Given the description of an element on the screen output the (x, y) to click on. 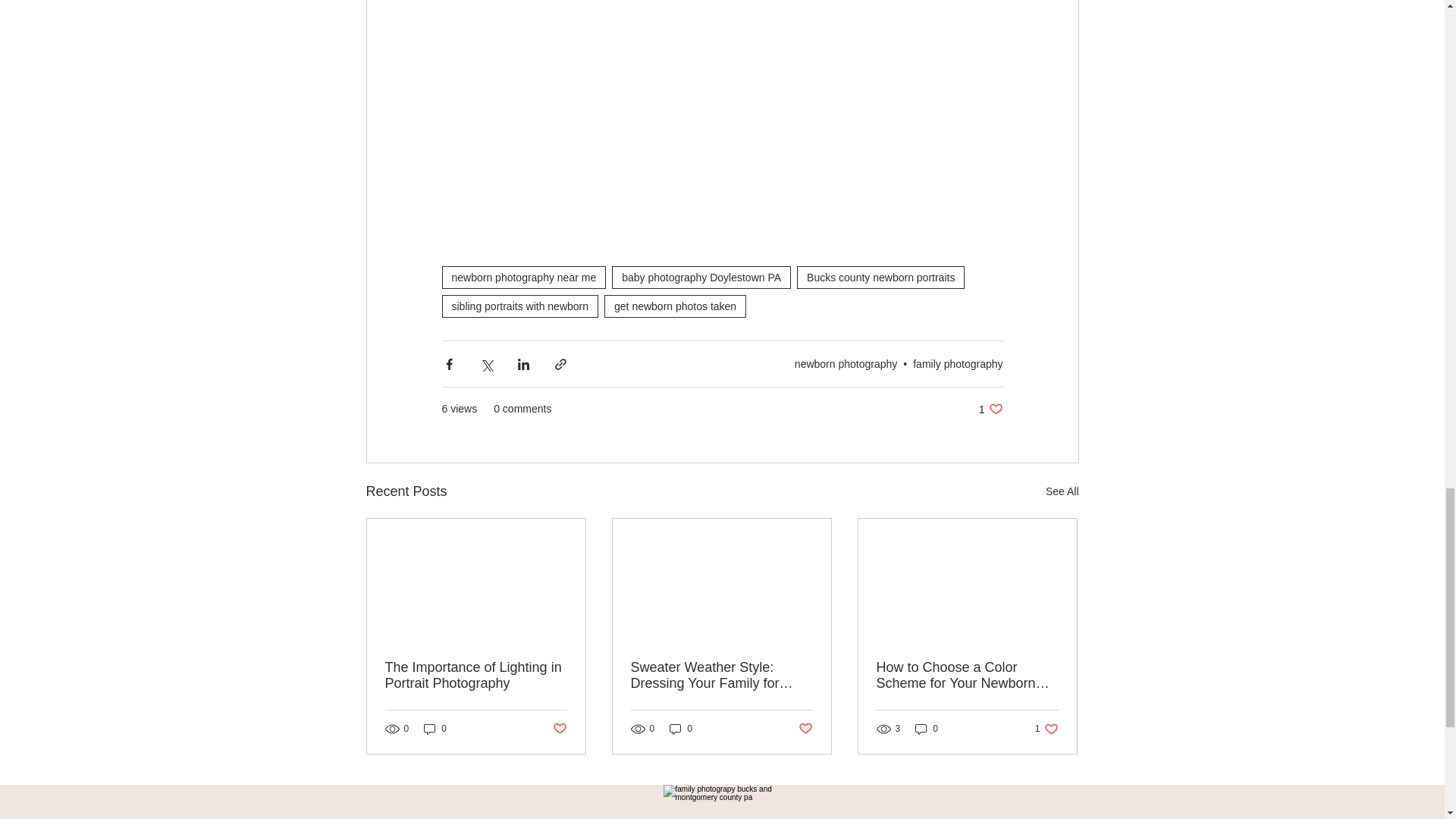
newborn photography near me (523, 277)
get newborn photos taken (674, 305)
Bucks county newborn portraits (879, 277)
sibling portraits with newborn (519, 305)
baby photography Doylestown PA (700, 277)
